Given the description of an element on the screen output the (x, y) to click on. 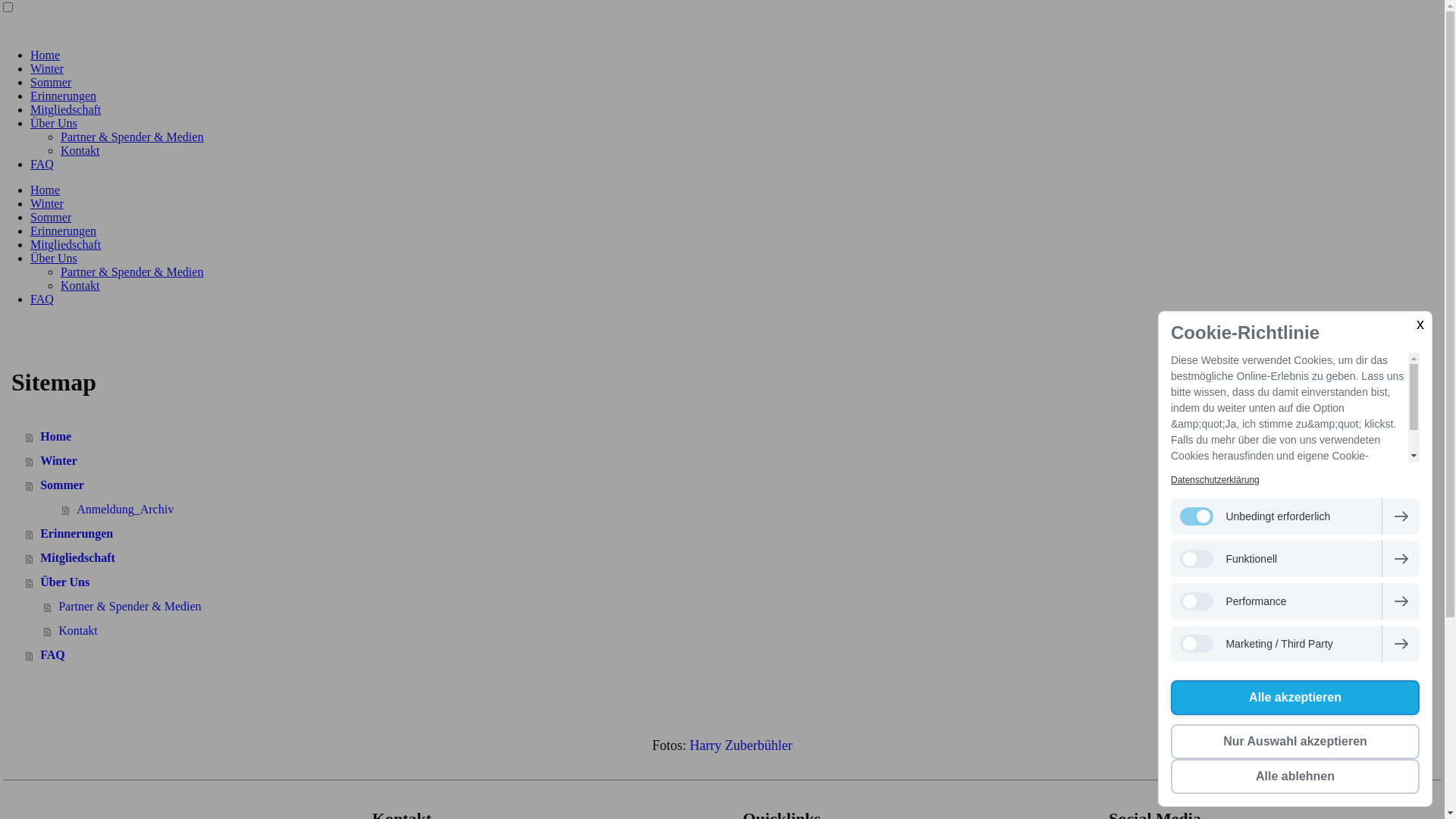
FAQ Element type: text (41, 298)
Alle ablehnen Element type: text (1294, 776)
FAQ Element type: text (501, 655)
Winter Element type: text (501, 460)
Mitgliedschaft Element type: text (501, 558)
Sommer Element type: text (501, 485)
Nur Auswahl akzeptieren Element type: text (1294, 741)
Sommer Element type: text (50, 216)
Winter Element type: text (46, 203)
Kontakt Element type: text (510, 630)
Erinnerungen Element type: text (63, 230)
Partner & Spender & Medien Element type: text (131, 136)
Kontakt Element type: text (80, 285)
Alle akzeptieren Element type: text (1294, 697)
Mitgliedschaft Element type: text (65, 109)
Partner & Spender & Medien Element type: text (131, 271)
Home Element type: text (44, 189)
Erinnerungen Element type: text (501, 533)
Erinnerungen Element type: text (63, 95)
Kontakt Element type: text (80, 150)
Home Element type: text (44, 54)
Anmeldung_Archiv Element type: text (520, 509)
Partner & Spender & Medien Element type: text (510, 606)
FAQ Element type: text (41, 163)
Winter Element type: text (46, 68)
Home Element type: text (501, 436)
Mitgliedschaft Element type: text (65, 244)
Sommer Element type: text (50, 81)
